Given the description of an element on the screen output the (x, y) to click on. 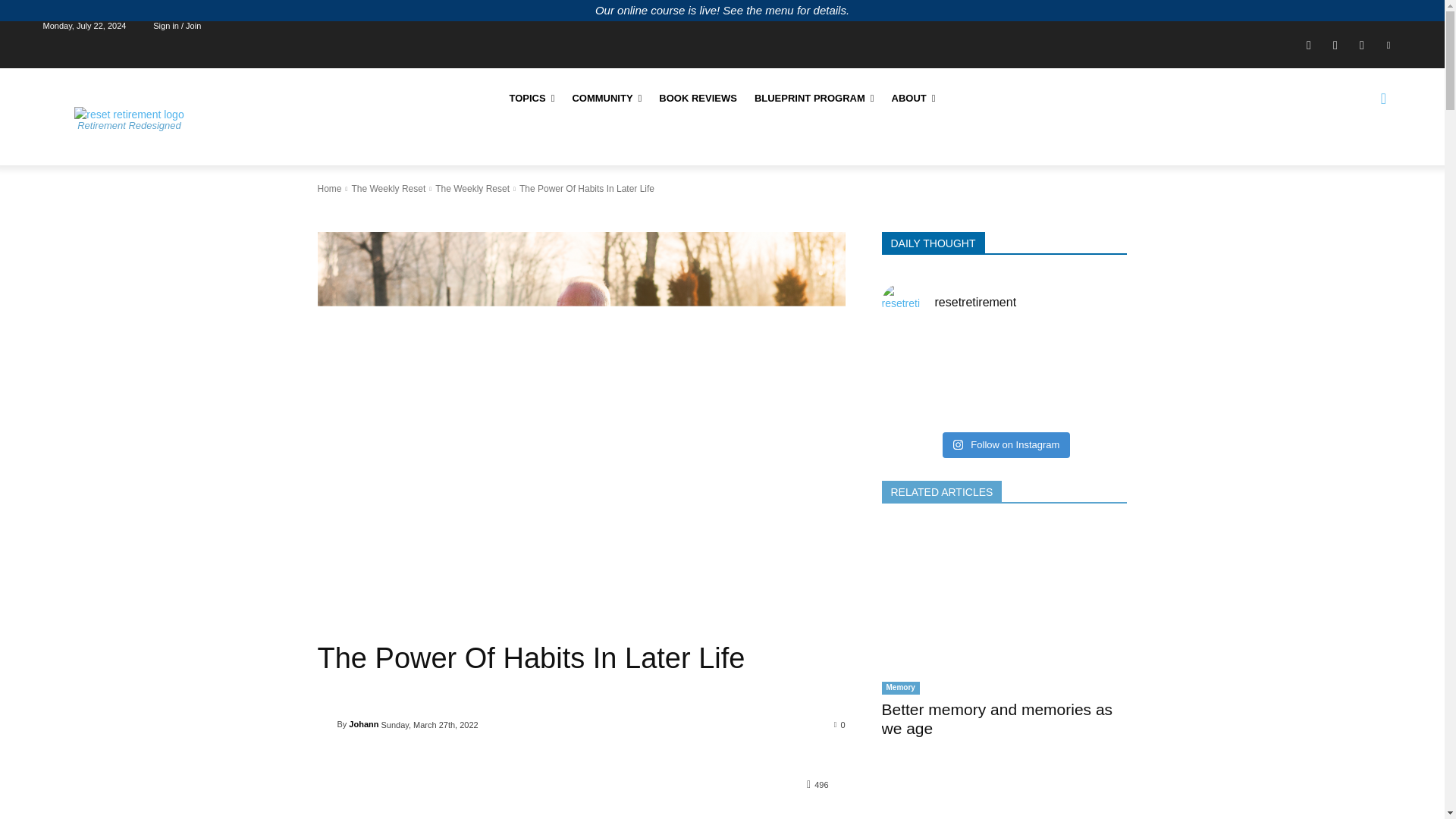
reset retirement logo (128, 114)
reset retirement logo (128, 114)
TOPICS (530, 97)
Linkedin (1361, 44)
View all posts in The Weekly Reset (387, 188)
Facebook (1308, 44)
Instagram (1335, 44)
Twitter (1388, 44)
View all posts in The Weekly Reset (472, 188)
